Given the description of an element on the screen output the (x, y) to click on. 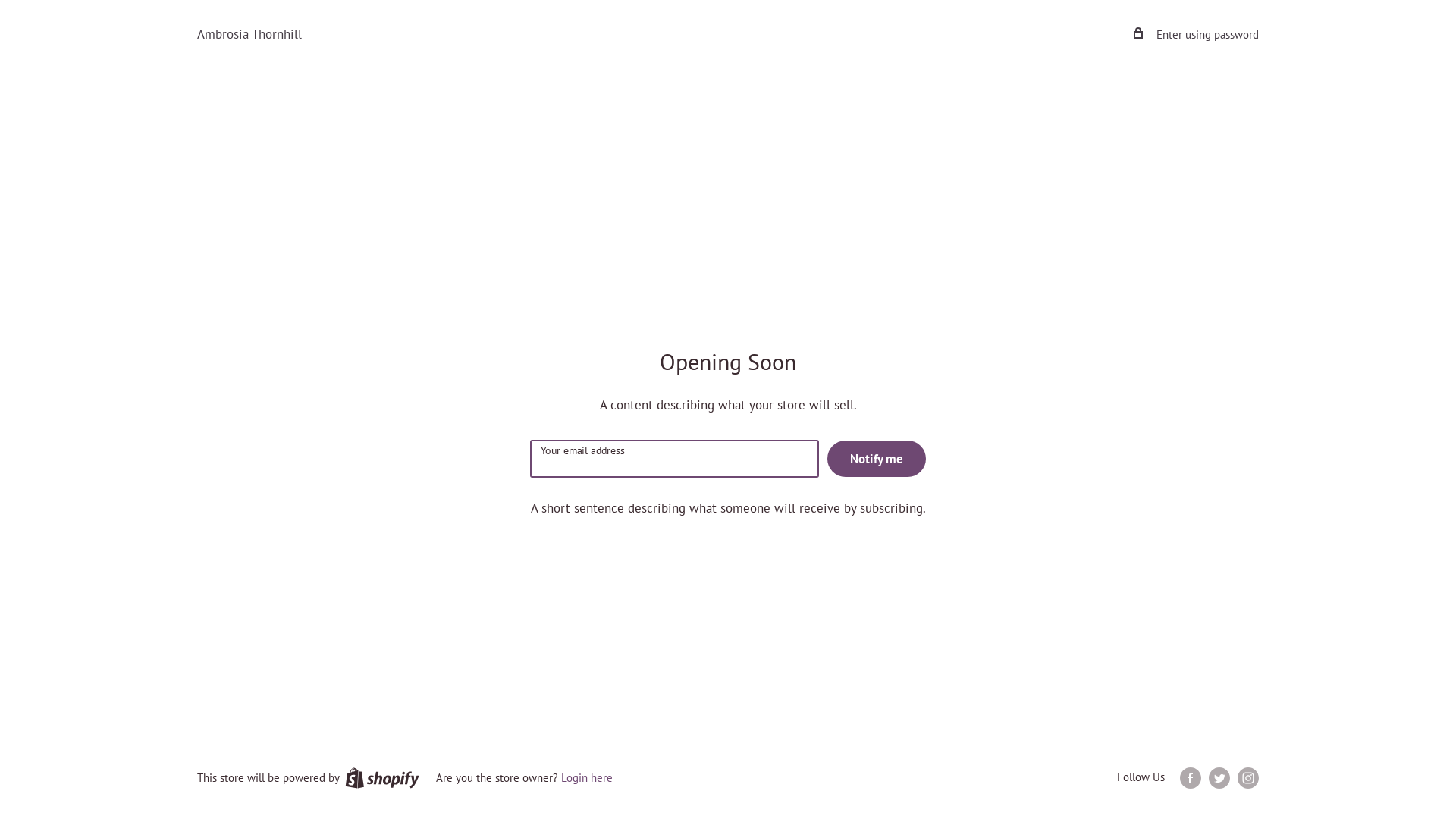
Ambrosia Thornhill Element type: text (249, 34)
Notify me Element type: text (875, 458)
Enter using password Element type: text (1195, 34)
Login here Element type: text (586, 777)
Create your own online store with Shopify Element type: hover (382, 777)
